Given the description of an element on the screen output the (x, y) to click on. 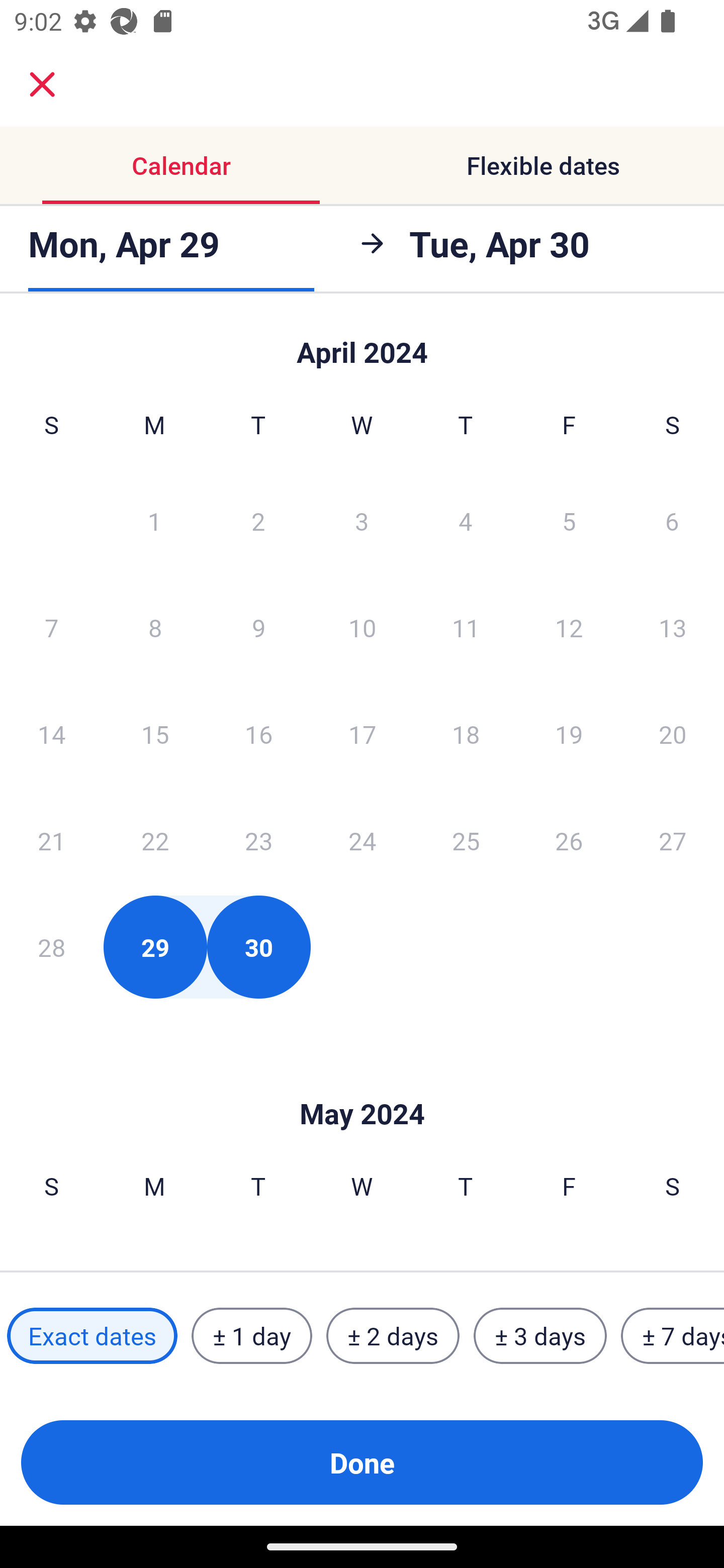
close. (42, 84)
Flexible dates (542, 164)
Skip to Done (362, 343)
1 Monday, April 1, 2024 (154, 520)
2 Tuesday, April 2, 2024 (257, 520)
3 Wednesday, April 3, 2024 (361, 520)
4 Thursday, April 4, 2024 (465, 520)
5 Friday, April 5, 2024 (568, 520)
6 Saturday, April 6, 2024 (672, 520)
7 Sunday, April 7, 2024 (51, 626)
8 Monday, April 8, 2024 (155, 626)
9 Tuesday, April 9, 2024 (258, 626)
10 Wednesday, April 10, 2024 (362, 626)
11 Thursday, April 11, 2024 (465, 626)
12 Friday, April 12, 2024 (569, 626)
13 Saturday, April 13, 2024 (672, 626)
14 Sunday, April 14, 2024 (51, 733)
15 Monday, April 15, 2024 (155, 733)
16 Tuesday, April 16, 2024 (258, 733)
17 Wednesday, April 17, 2024 (362, 733)
18 Thursday, April 18, 2024 (465, 733)
19 Friday, April 19, 2024 (569, 733)
20 Saturday, April 20, 2024 (672, 733)
21 Sunday, April 21, 2024 (51, 840)
22 Monday, April 22, 2024 (155, 840)
23 Tuesday, April 23, 2024 (258, 840)
24 Wednesday, April 24, 2024 (362, 840)
25 Thursday, April 25, 2024 (465, 840)
26 Friday, April 26, 2024 (569, 840)
27 Saturday, April 27, 2024 (672, 840)
28 Sunday, April 28, 2024 (51, 946)
Skip to Done (362, 1083)
Exact dates (92, 1335)
± 1 day (251, 1335)
± 2 days (392, 1335)
± 3 days (539, 1335)
± 7 days (672, 1335)
Done (361, 1462)
